Given the description of an element on the screen output the (x, y) to click on. 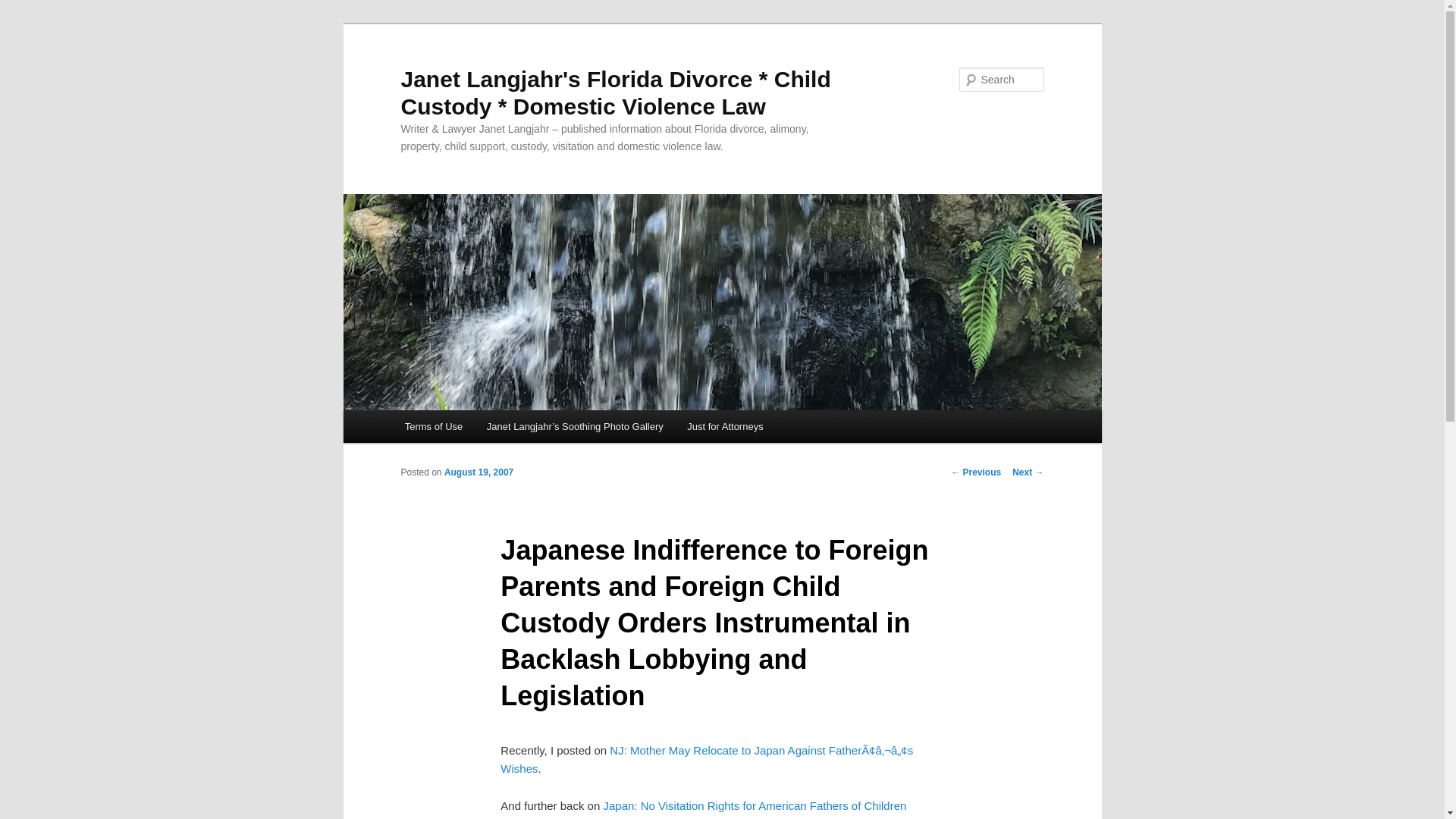
Search (24, 8)
Just for Attorneys (724, 426)
Terms of Use (433, 426)
August 19, 2007 (478, 471)
3:55 pm (478, 471)
